Given the description of an element on the screen output the (x, y) to click on. 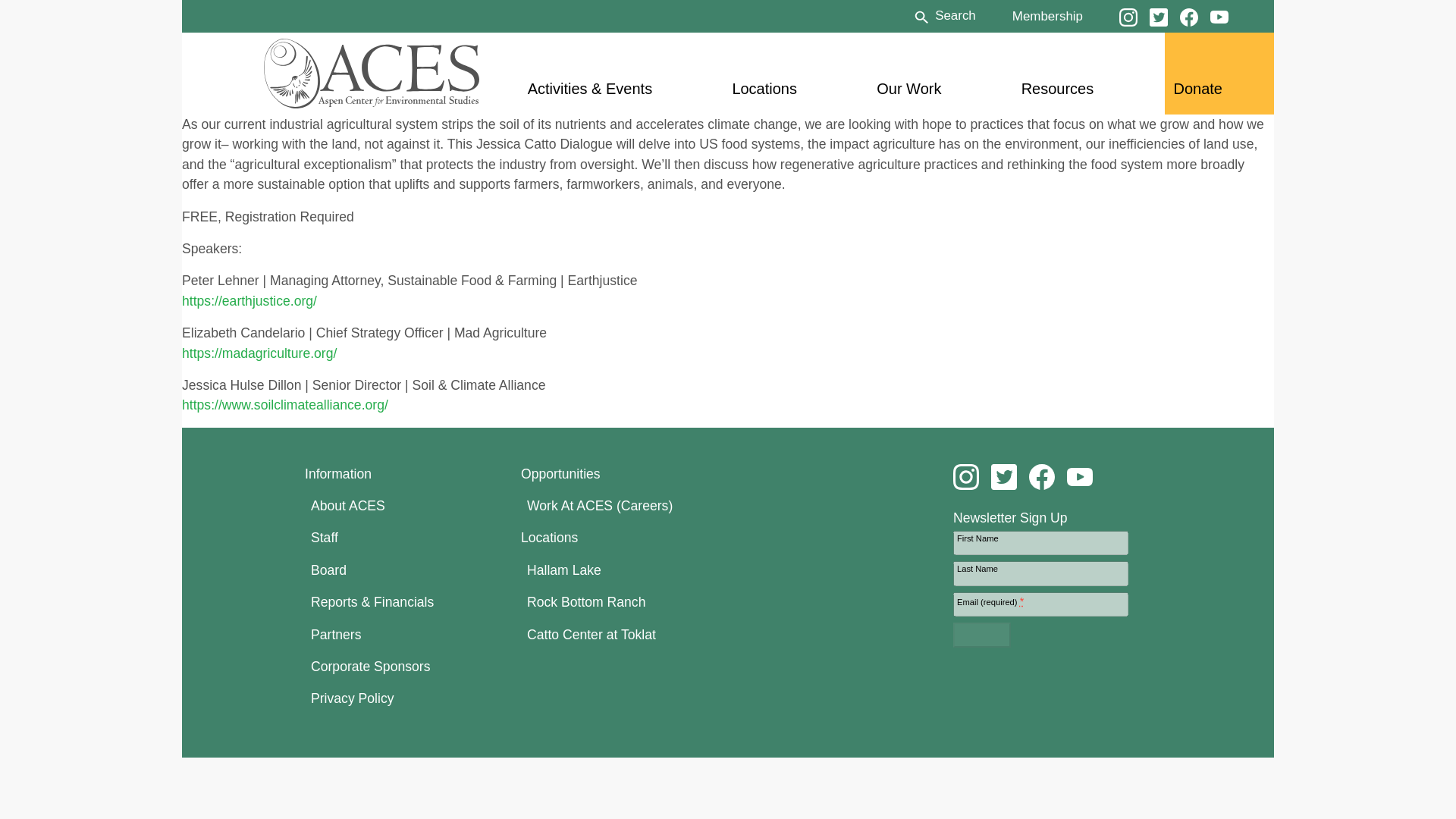
Sign up (981, 634)
Our Work (908, 88)
Locations (764, 88)
Membership (1047, 15)
Search (943, 15)
